Given the description of an element on the screen output the (x, y) to click on. 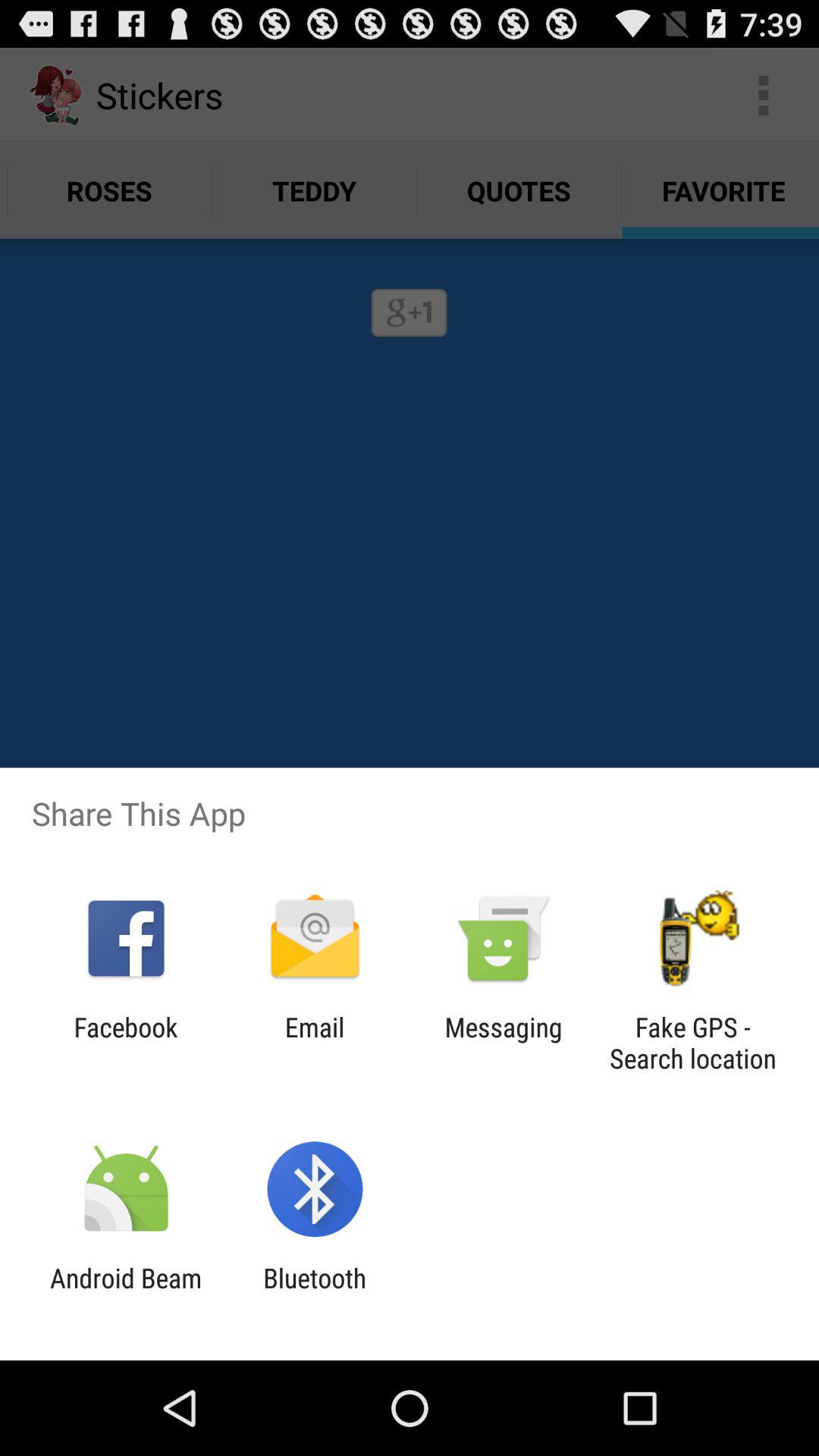
open the item next to the messaging app (692, 1042)
